Given the description of an element on the screen output the (x, y) to click on. 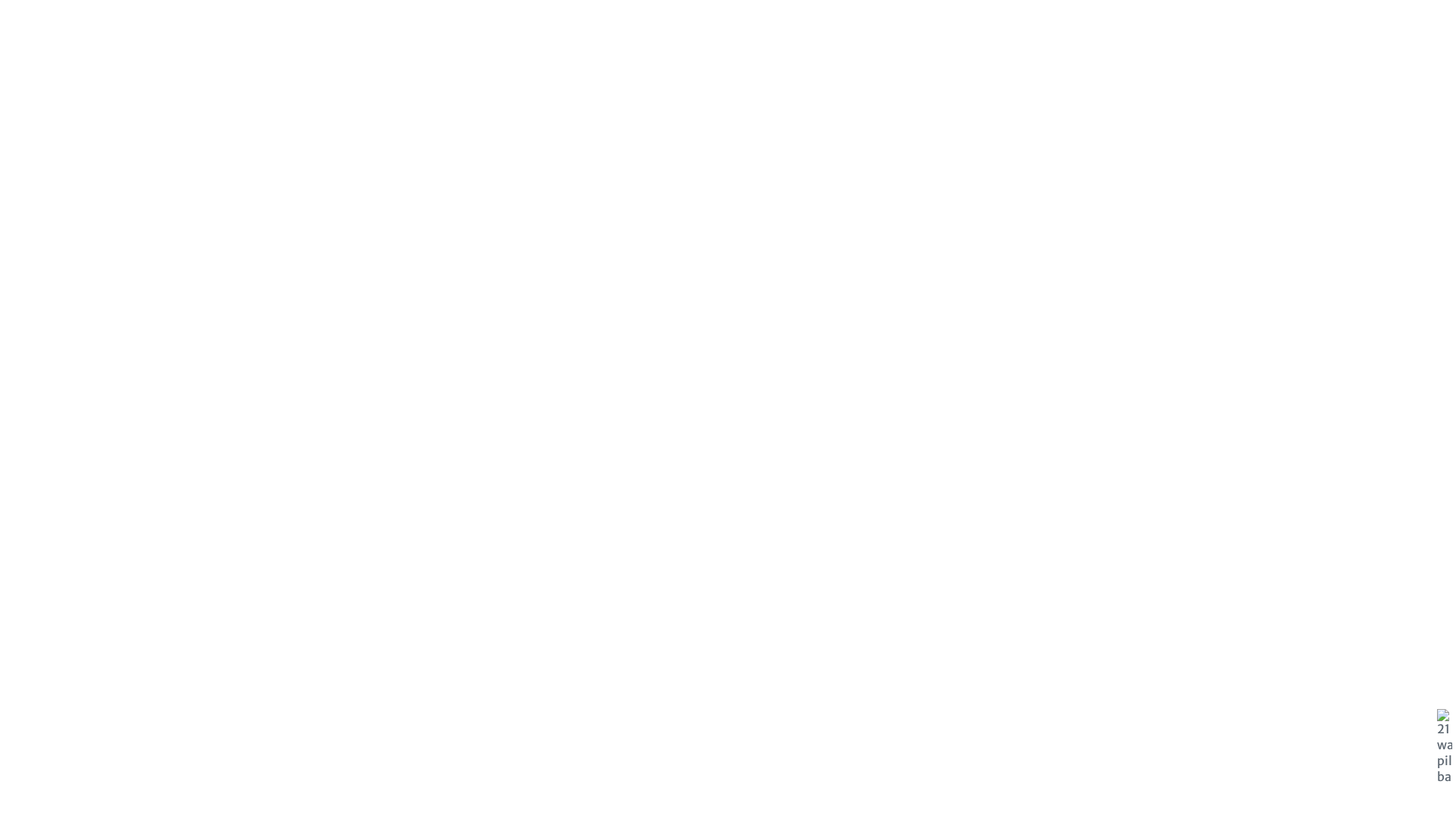
HIZMETLERIMIZ Element type: text (834, 45)
FRANCHISING Element type: text (752, 45)
BLOG Element type: text (1051, 45)
ANASAYFA Element type: text (528, 45)
SHOP Element type: text (692, 45)
HAKKIMIZDA Element type: text (914, 45)
REFERANSLAR Element type: text (991, 45)
REZERVASYON Element type: text (1166, 45)
AKADEMI Element type: text (643, 45)
